Given the description of an element on the screen output the (x, y) to click on. 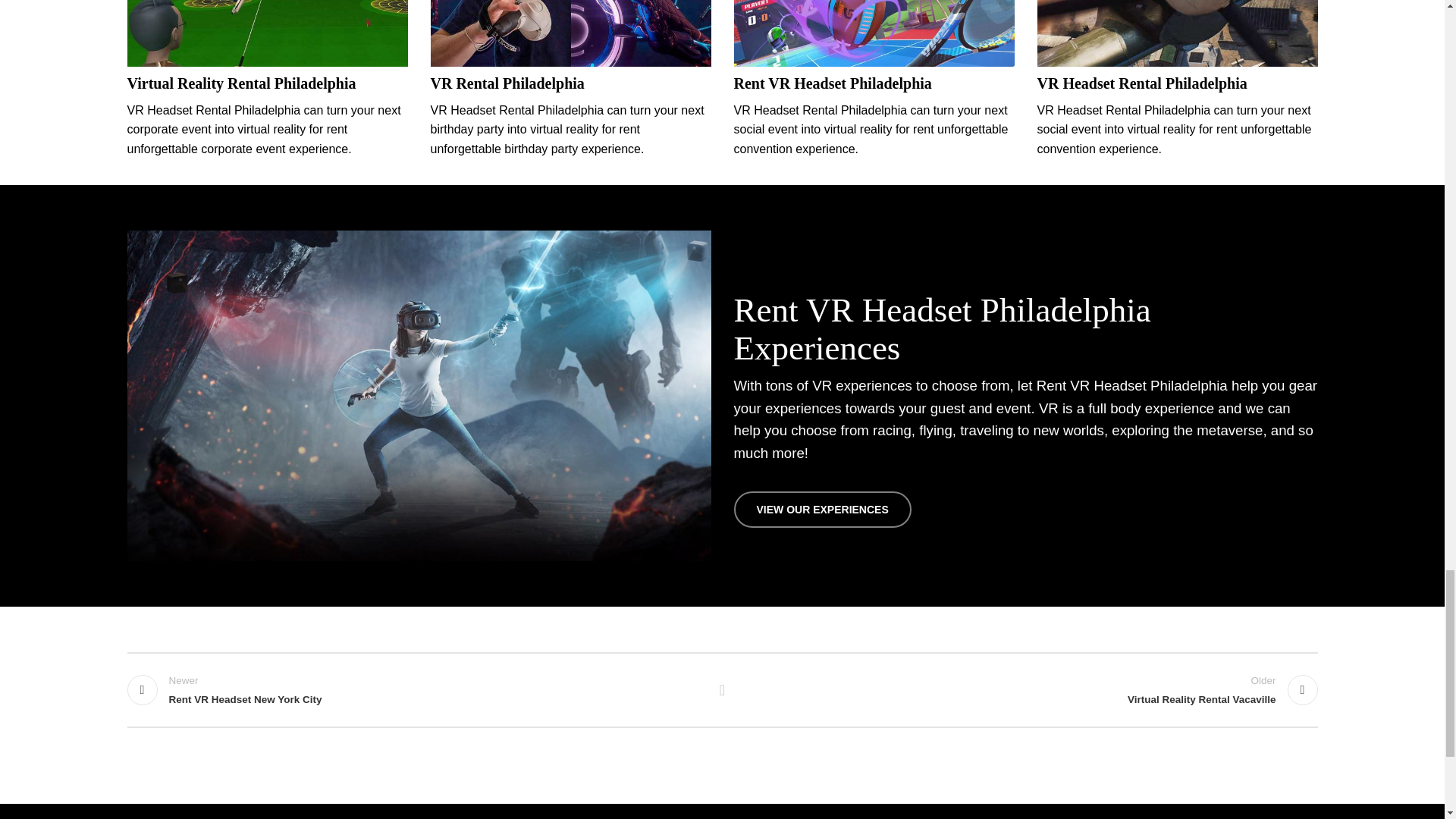
golfing (267, 33)
Virtual Reality Rental Philadelphia (242, 83)
VR Headset Rental Philadelphia (1141, 83)
VR Rental Philadelphia (507, 83)
vr-headset-rental---vr-man (570, 33)
Rent VR Headset Philadelphia (832, 83)
warplanes (1176, 33)
vr-headset-rental---sports-scramble-video (873, 33)
